Given the description of an element on the screen output the (x, y) to click on. 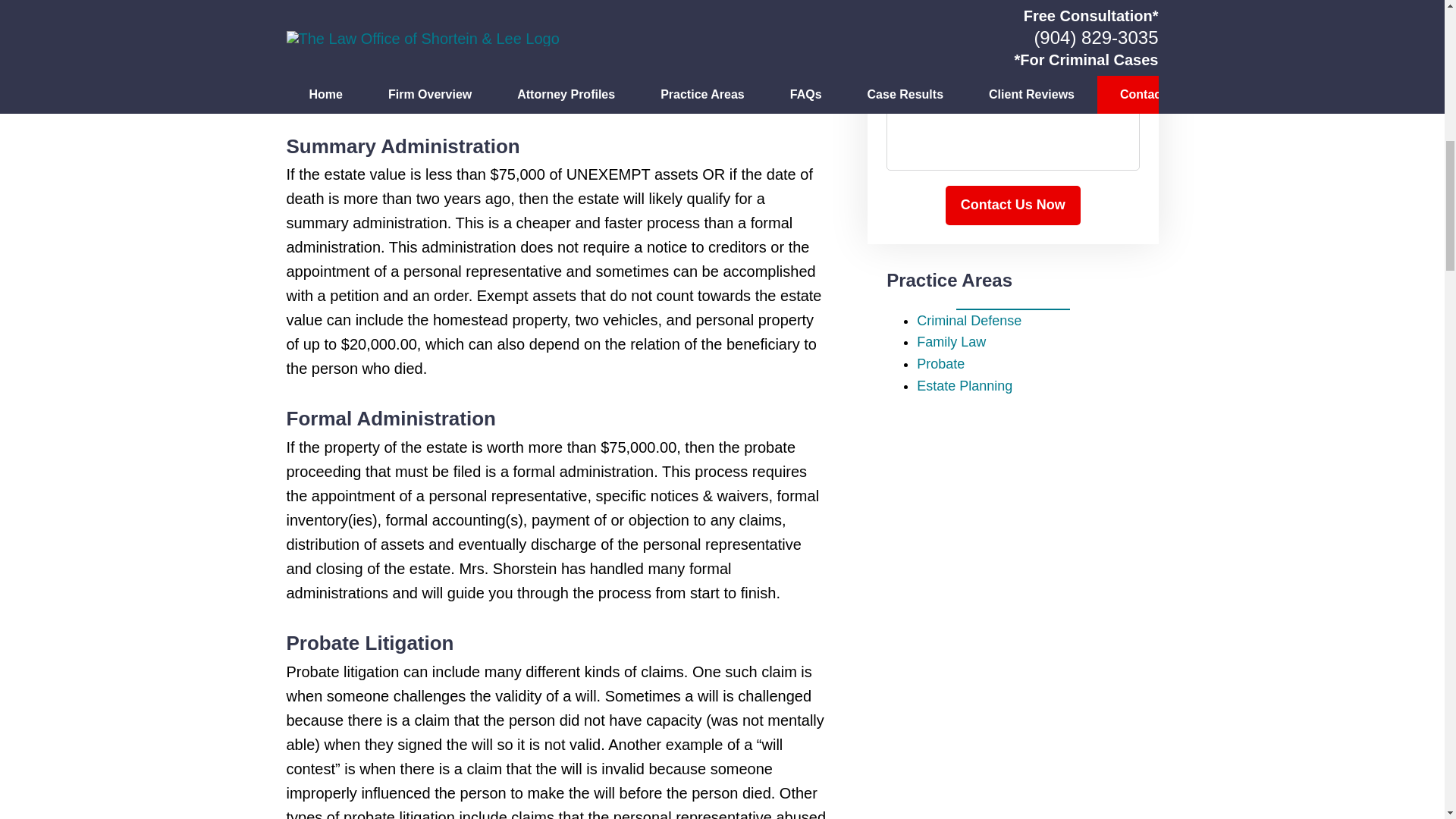
Family Law (951, 341)
Criminal Defense (969, 320)
Probate (940, 363)
Contact Us Now (1012, 205)
Estate Planning (964, 385)
